Given the description of an element on the screen output the (x, y) to click on. 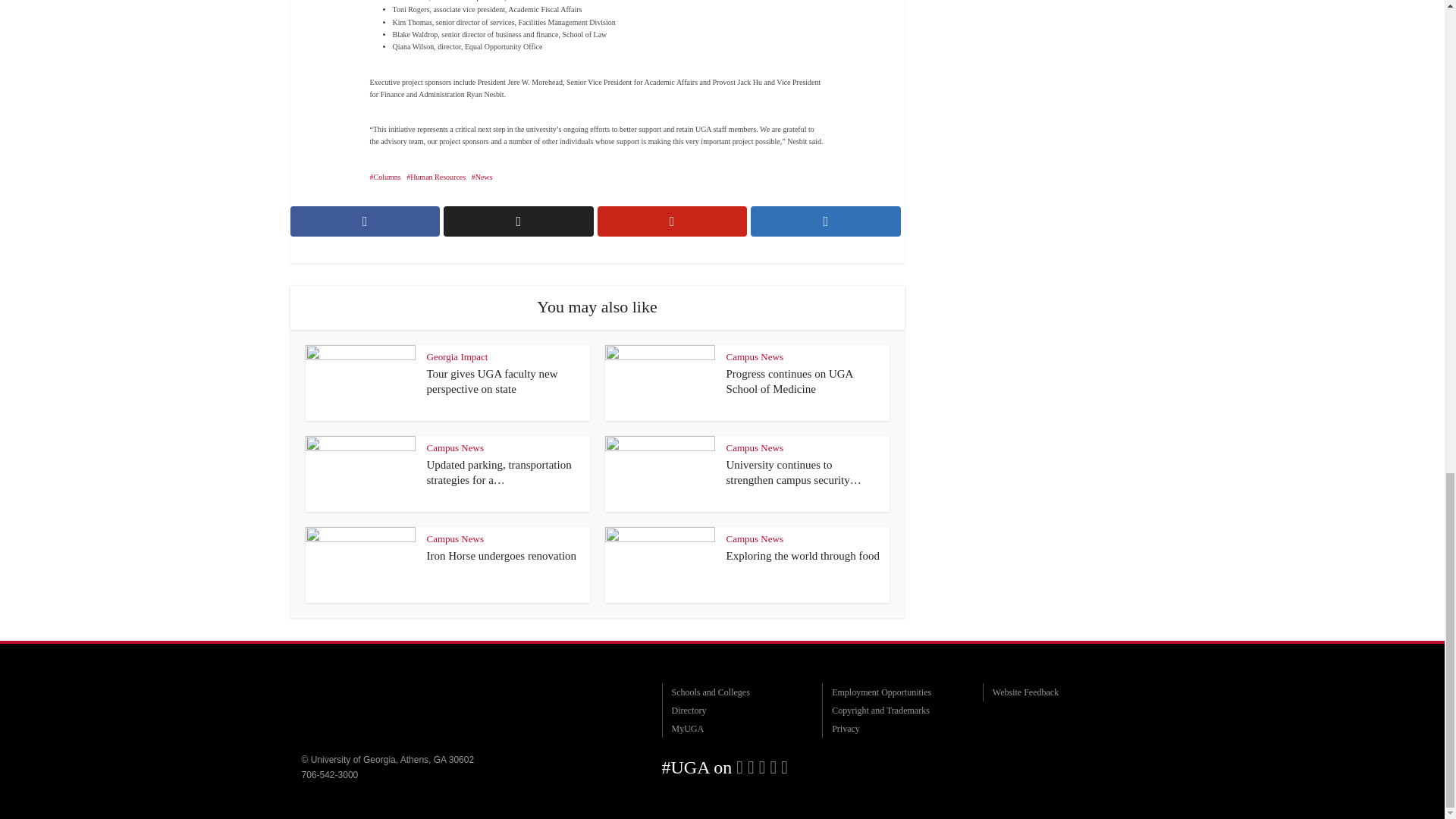
Tour gives UGA faculty new perspective on state (491, 380)
Campus News (454, 447)
Iron Horse undergoes renovation (501, 555)
Exploring the world through food (802, 555)
Campus News (454, 538)
Iron Horse undergoes renovation (501, 555)
News (482, 176)
Progress continues on UGA School of Medicine (789, 380)
Campus News (754, 356)
Columns (385, 176)
